Given the description of an element on the screen output the (x, y) to click on. 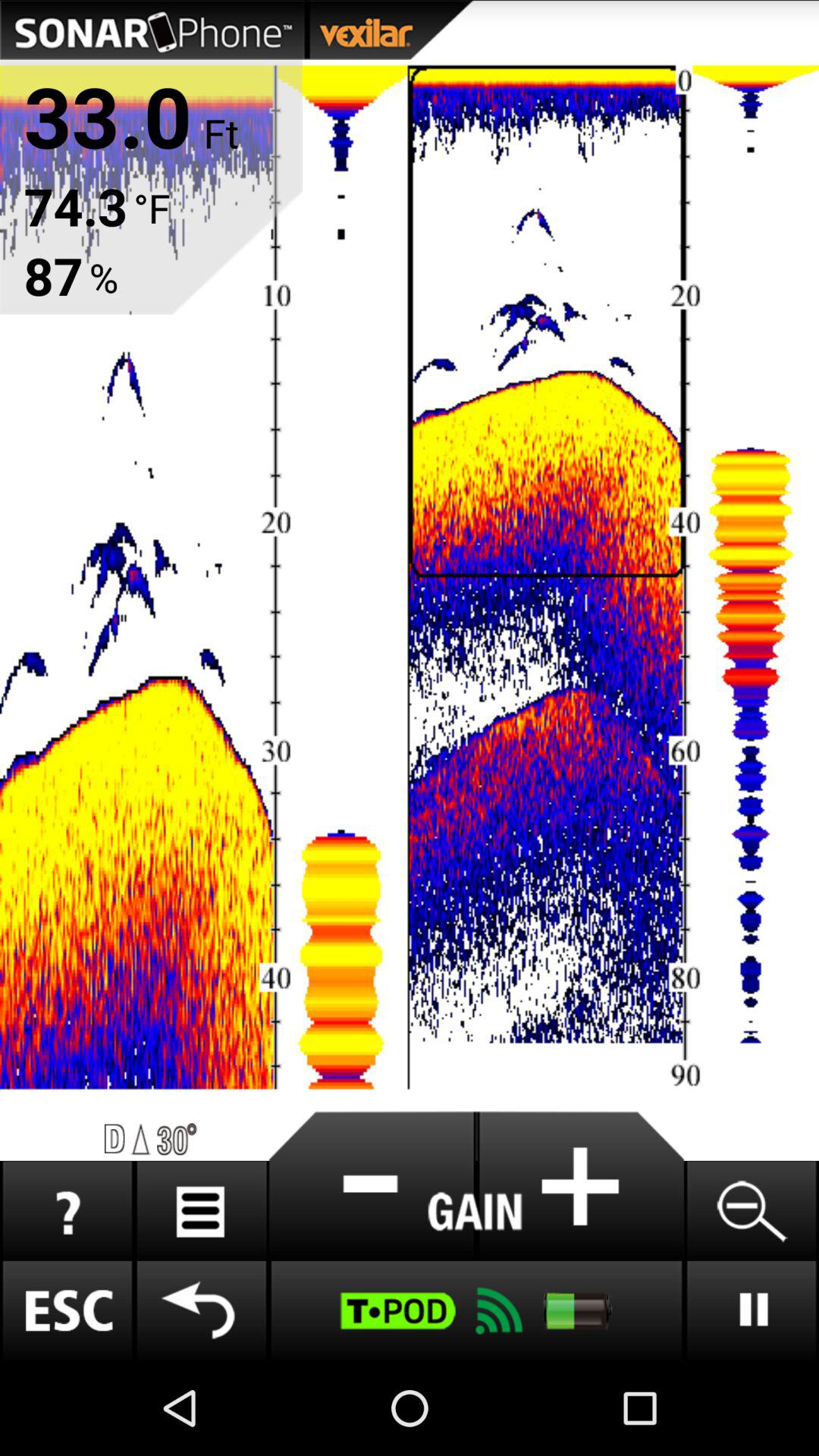
go to back (201, 1310)
